Given the description of an element on the screen output the (x, y) to click on. 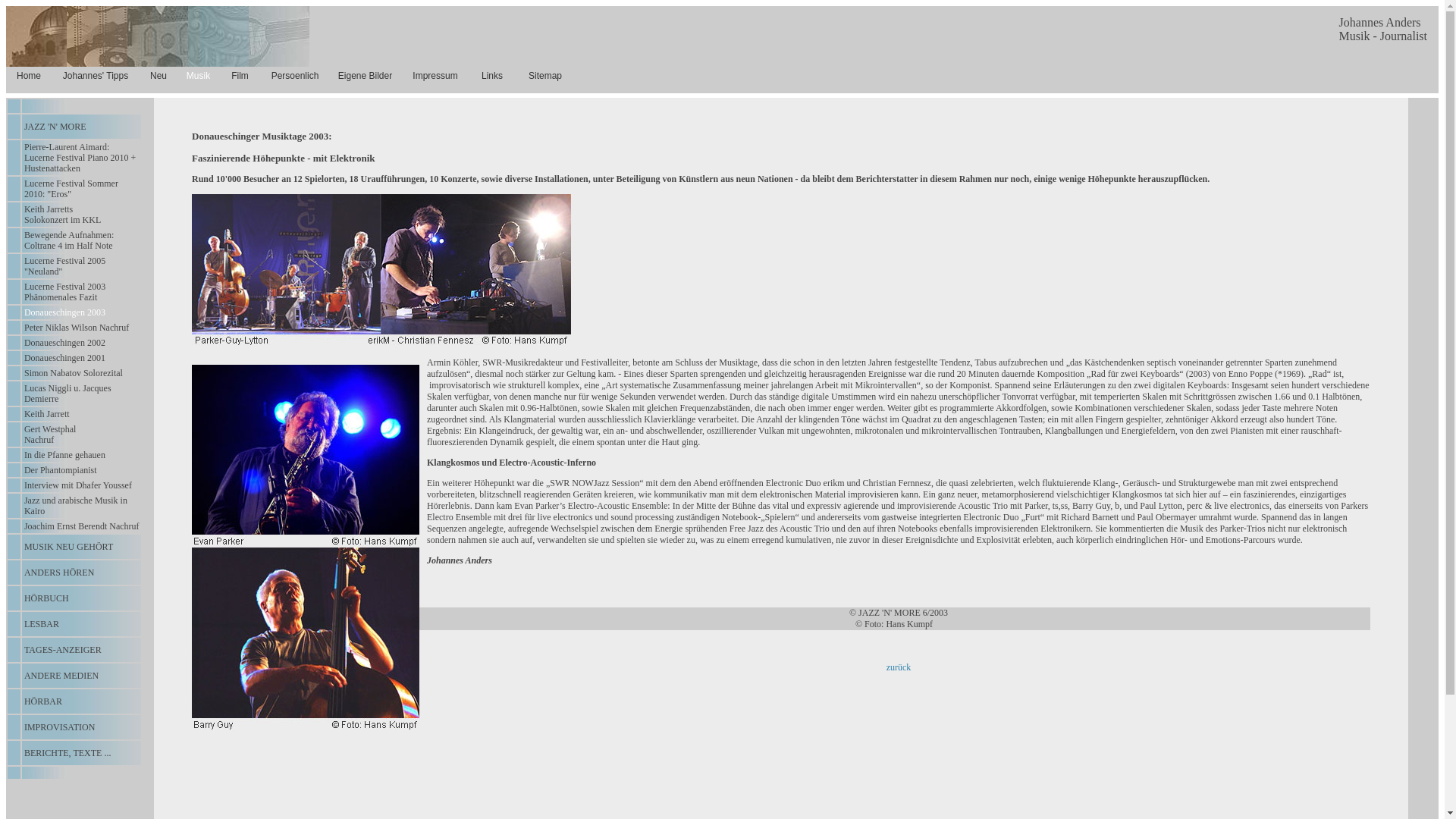
Interview mit Dhafer Youssef Element type: text (77, 485)
Lucas Niggli u. Jacques Demierre Element type: text (67, 393)
Simon Nabatov Solorezital Element type: text (73, 372)
Peter Niklas Wilson Nachruf Element type: text (76, 327)
IMPROVISATION Element type: text (59, 726)
ANDERE MEDIEN Element type: text (61, 675)
Lucerne Festival 2005 "Neuland" Element type: text (64, 265)
Joachim Ernst Berendt Nachruf Element type: text (81, 525)
JAZZ 'N' MORE Element type: text (55, 126)
Keith Jarrett Element type: text (46, 413)
LESBAR Element type: text (41, 623)
BERICHTE, TEXTE ... Element type: text (67, 752)
Jazz und arabische Musik in Kairo Element type: text (75, 505)
In die Pfanne gehauen Element type: text (64, 454)
Der Phantompianist Element type: text (60, 469)
Bewegende Aufnahmen:
Coltrane 4 im Half Note Element type: text (68, 240)
Keith Jarretts
Solokonzert im KKL Element type: text (62, 214)
TAGES-ANZEIGER Element type: text (62, 649)
Donaueschingen 2003 Element type: text (64, 312)
Donaueschingen 2001 Element type: text (64, 357)
Gert Westphal
Nachruf Element type: text (49, 434)
Lucerne Festival Sommer 2010: "Eros" Element type: text (71, 188)
Donaueschingen 2002 Element type: text (64, 342)
